Given the description of an element on the screen output the (x, y) to click on. 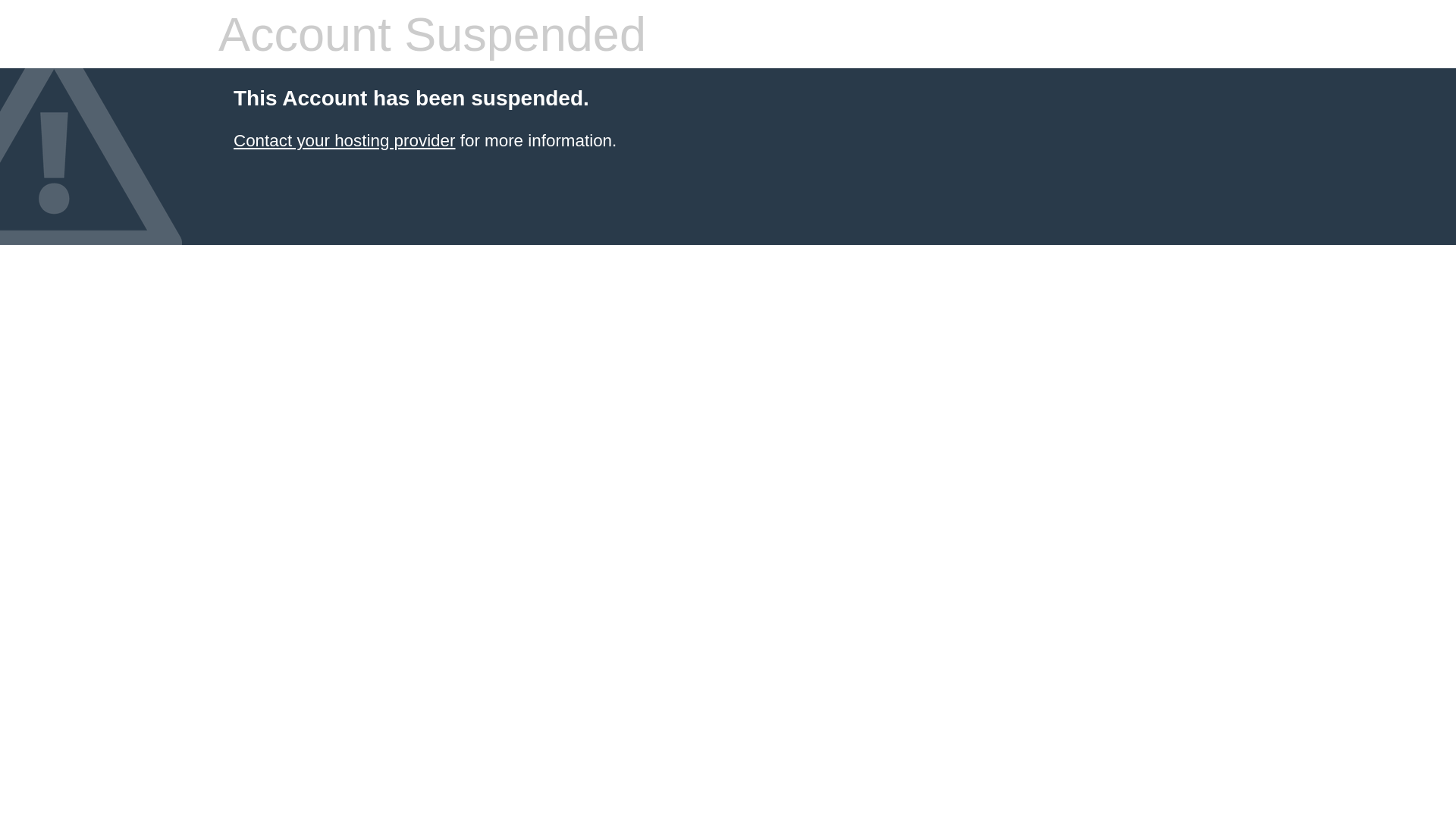
Contact your hosting provider Element type: text (344, 140)
